Given the description of an element on the screen output the (x, y) to click on. 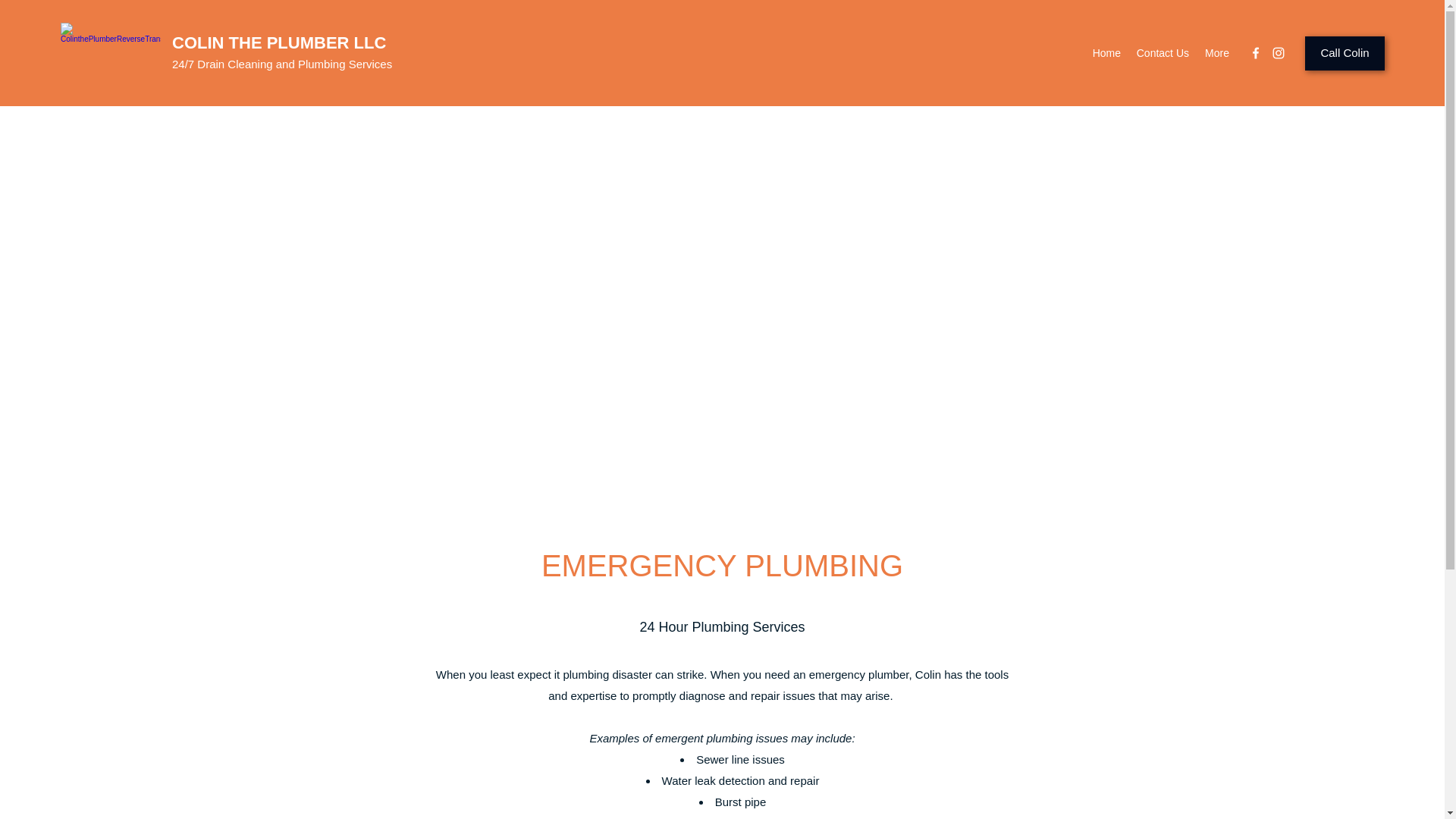
Home (1106, 52)
Contact Us (1162, 52)
COLIN THE PLUMBER LLC (278, 42)
Call Colin (1344, 53)
